Given the description of an element on the screen output the (x, y) to click on. 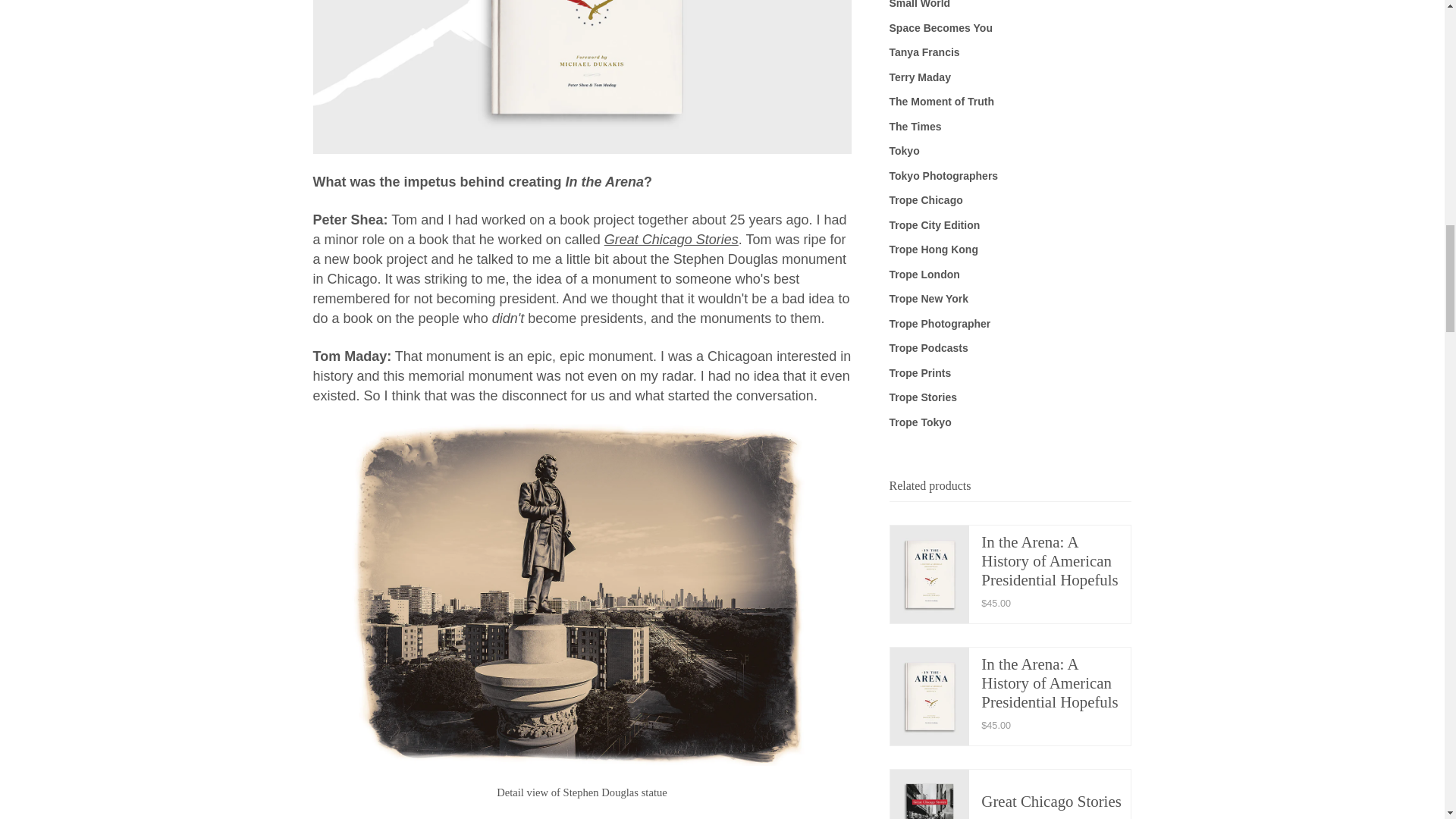
Great Chicago Stories (671, 239)
